Given the description of an element on the screen output the (x, y) to click on. 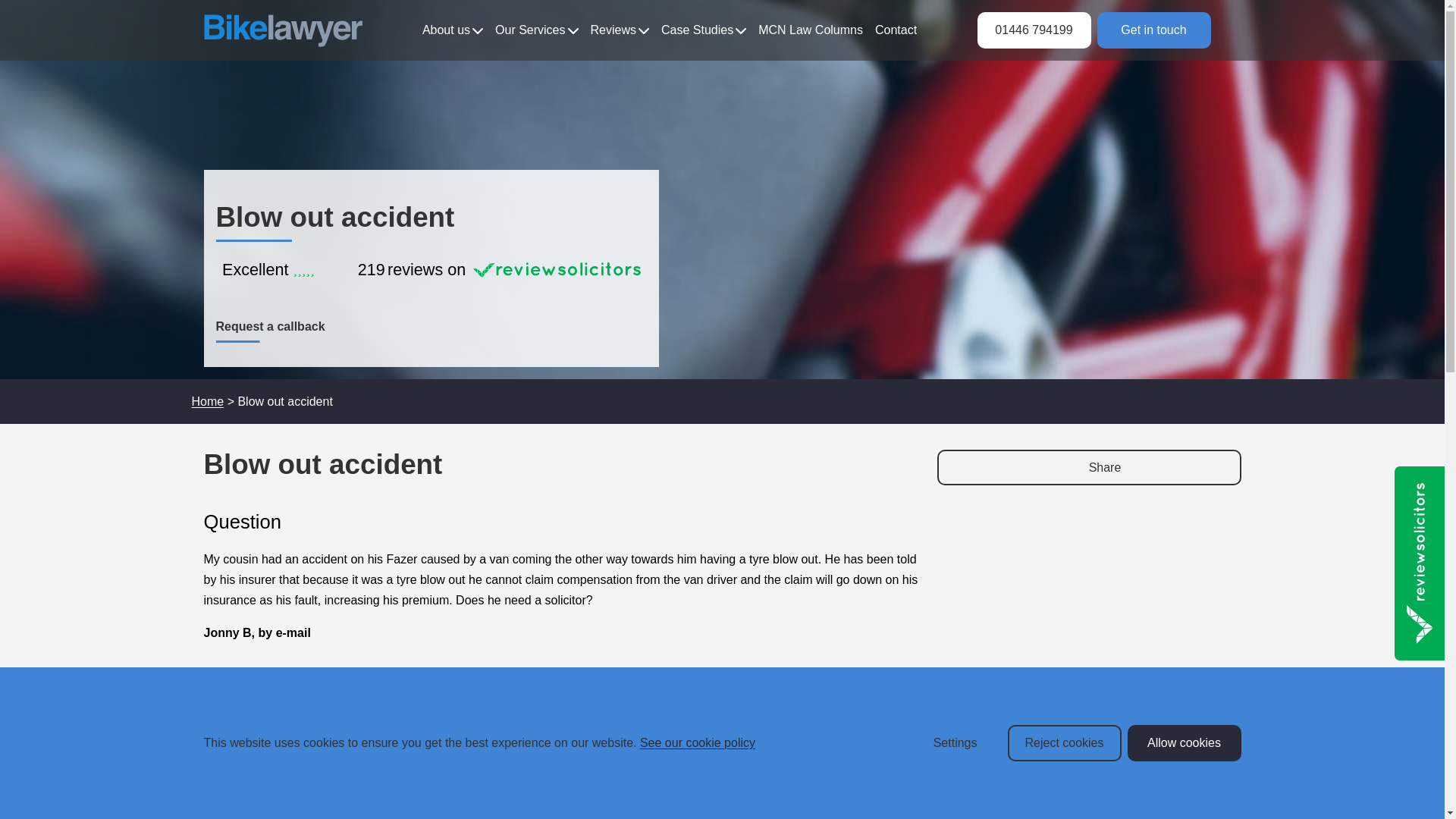
Reviews (620, 30)
Get in touch (1152, 29)
Site search (1224, 29)
Request a callback (269, 326)
Learn more information about the cookies we use (697, 742)
MCN Law Columns (810, 30)
About us (452, 30)
ReviewSolicitors (430, 266)
Our Services (536, 30)
01446 794199 (1033, 29)
Case Studies (703, 30)
